Given the description of an element on the screen output the (x, y) to click on. 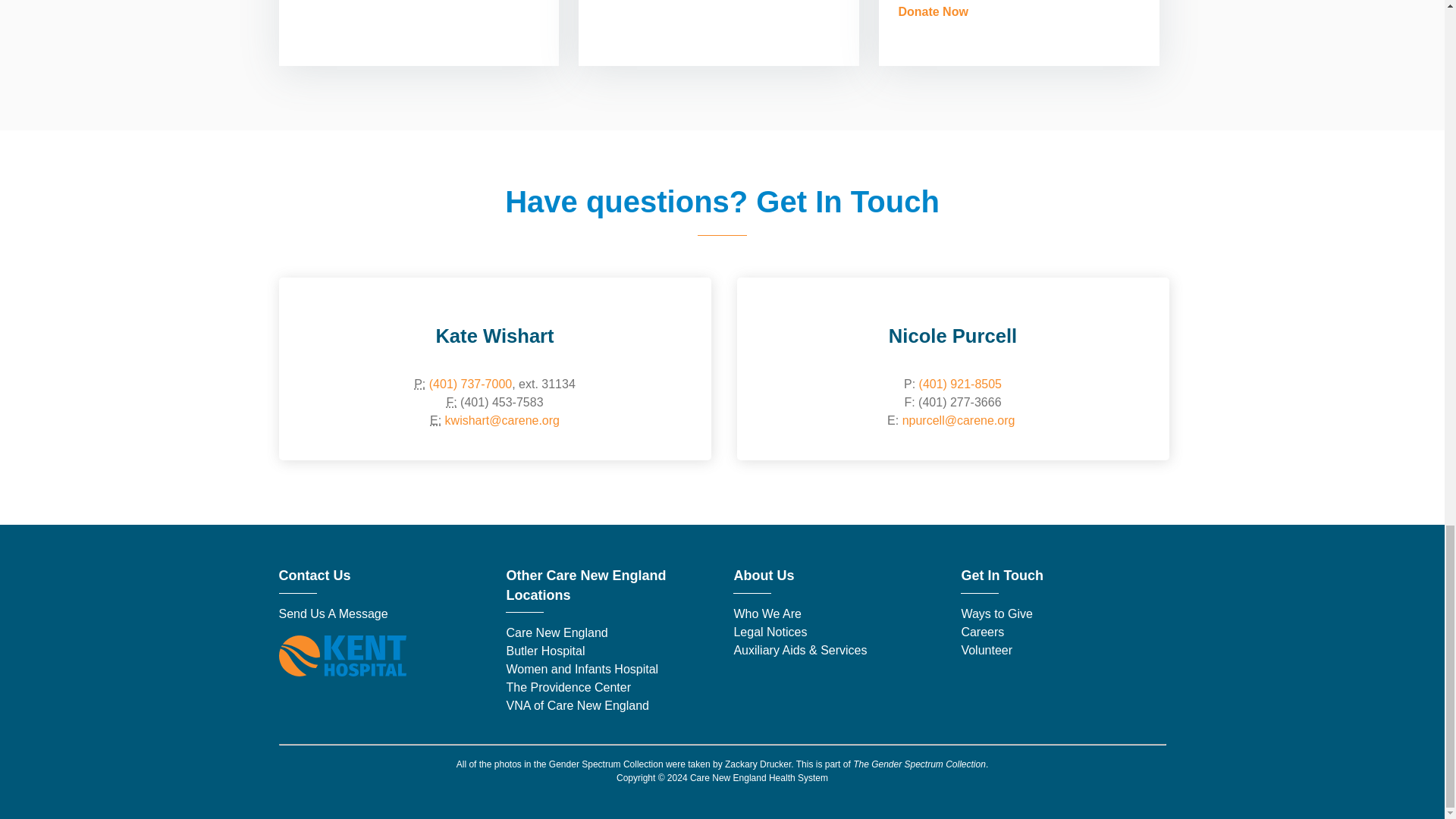
VNA of Care New England (577, 705)
Women and Infants Hospital (581, 668)
Careers (982, 631)
Who We Are (767, 613)
Butler Hospital (545, 650)
Care New England  (558, 632)
Donate Now (933, 11)
Ways to Give (996, 613)
The Providence Center (567, 686)
Volunteer (985, 649)
Send Us A Message (333, 613)
Legal Notices (769, 631)
